Given the description of an element on the screen output the (x, y) to click on. 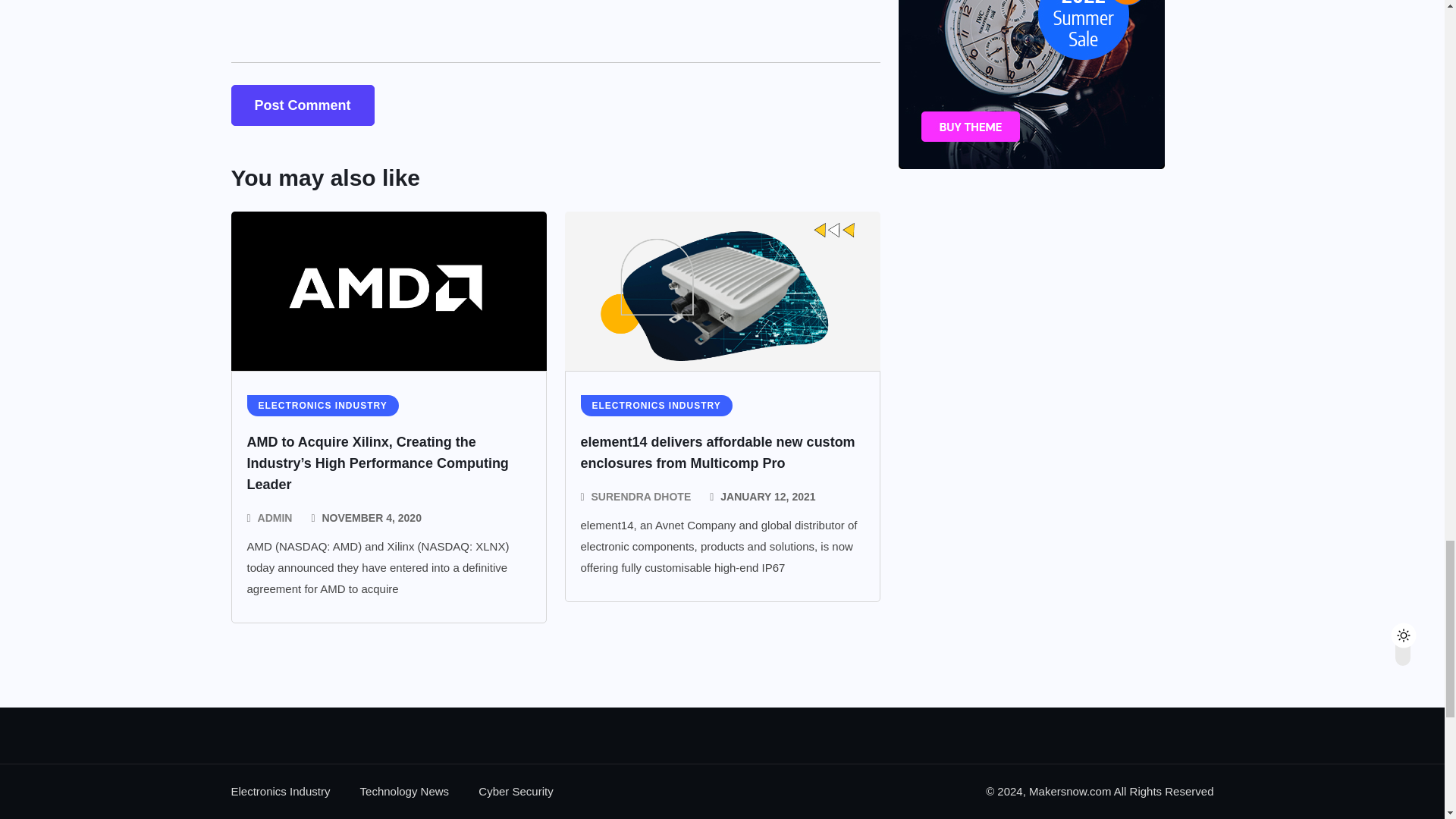
Posts by Surendra Dhote (641, 496)
Post Comment (302, 105)
Posts by admin (274, 517)
